Given the description of an element on the screen output the (x, y) to click on. 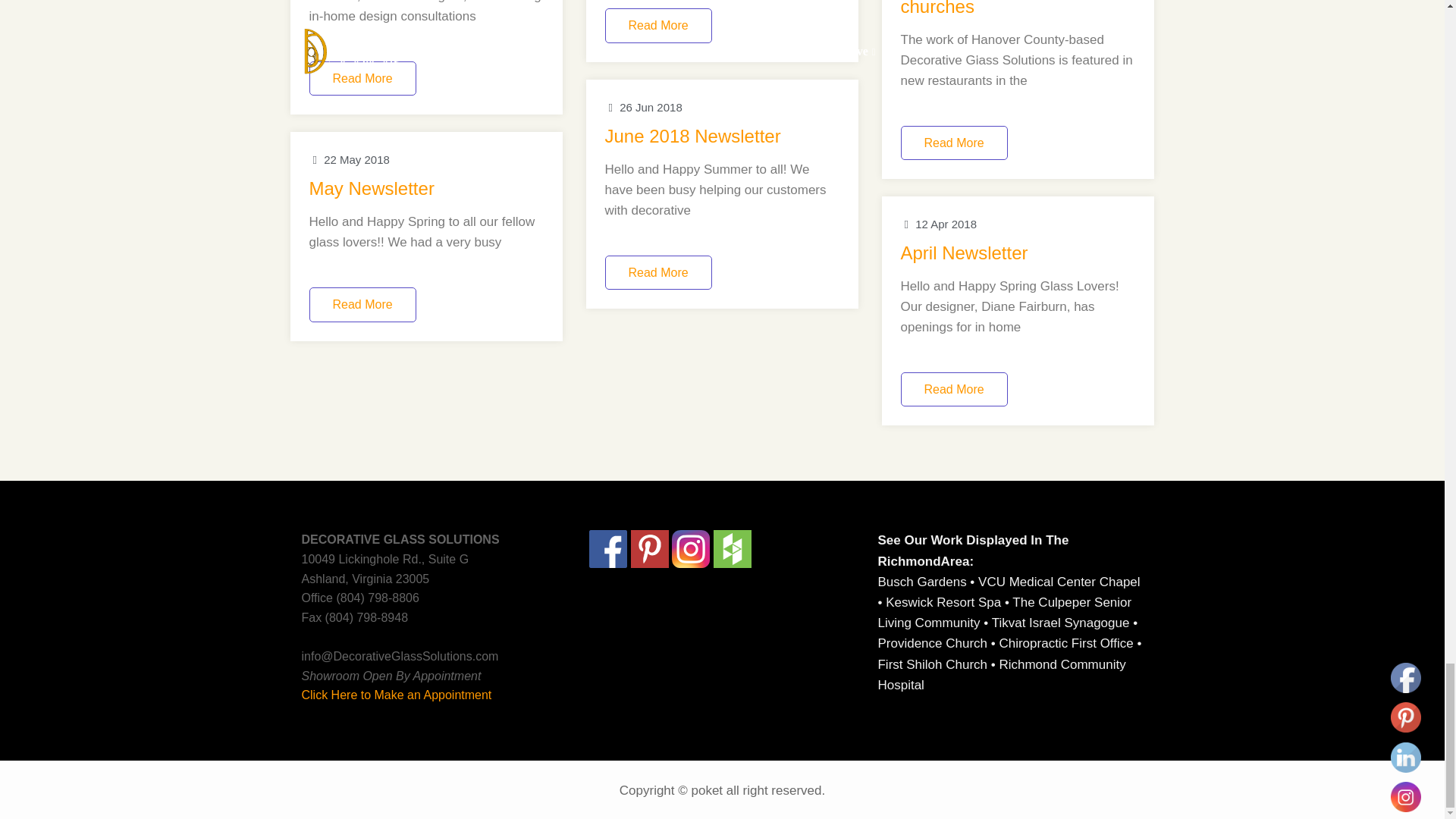
Instagram (1405, 797)
Facebook (1405, 677)
Pinterest (1405, 716)
LinkedIn (1405, 757)
